Given the description of an element on the screen output the (x, y) to click on. 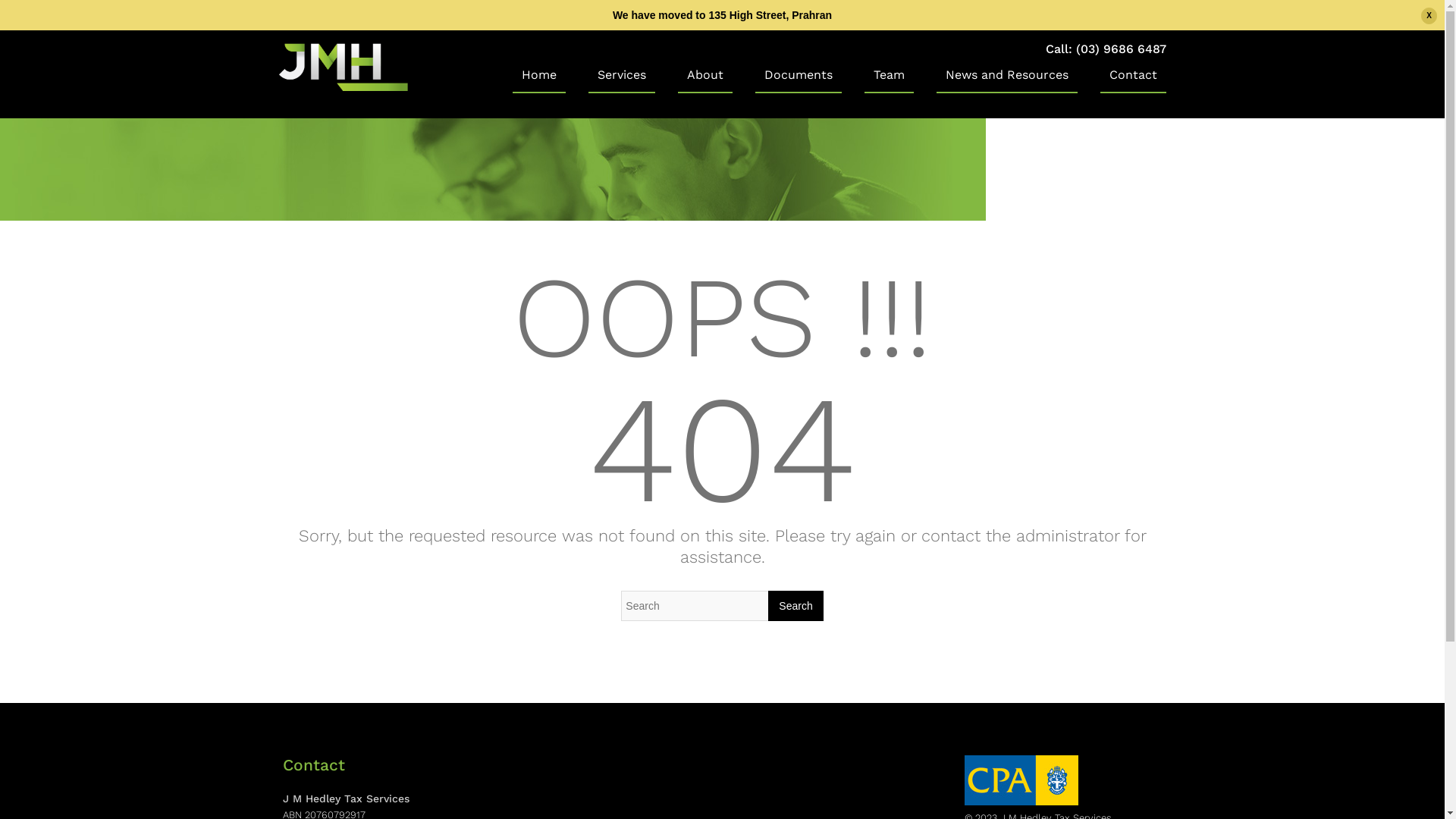
Services Element type: text (621, 79)
JMH Tax Services Element type: hover (343, 87)
Contact Element type: text (1132, 79)
Home Element type: text (538, 79)
News and Resources Element type: text (1005, 79)
Documents Element type: text (798, 79)
About Element type: text (704, 79)
Search Element type: text (795, 605)
Team Element type: text (888, 79)
